Given the description of an element on the screen output the (x, y) to click on. 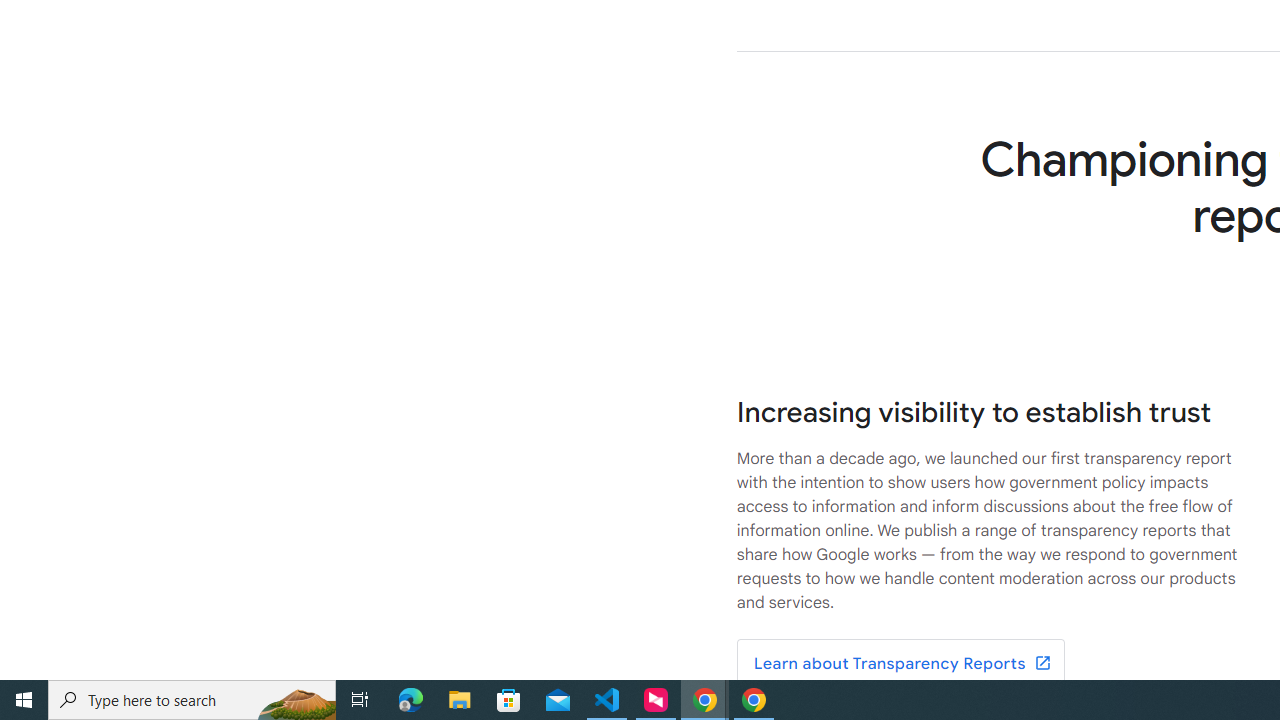
Go to Transparency Report About web page (900, 664)
